Given the description of an element on the screen output the (x, y) to click on. 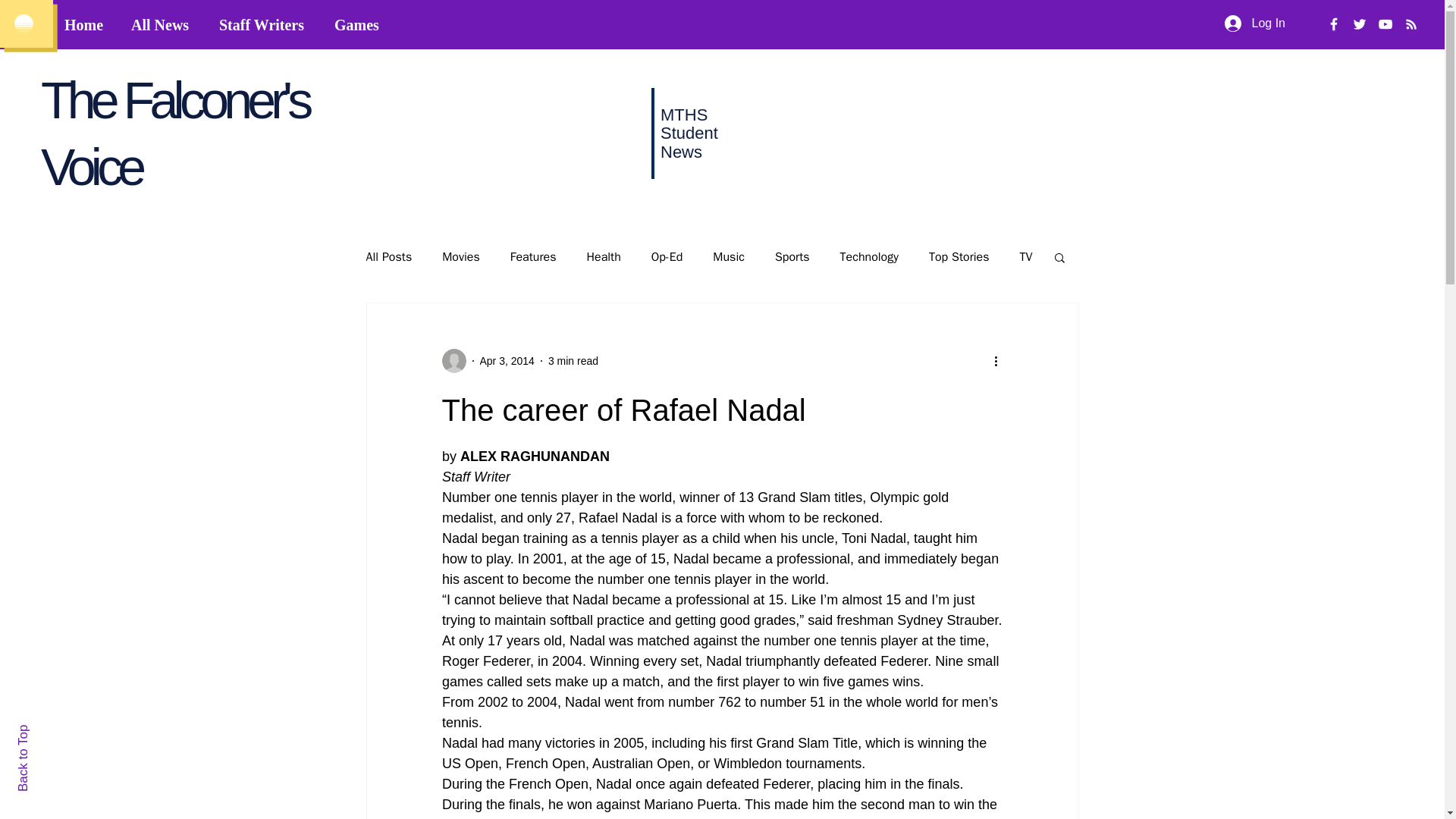
Op-Ed (666, 256)
Features (533, 256)
Apr 3, 2014 (506, 360)
Movies (461, 256)
Staff Writers (265, 25)
Games (359, 25)
Top Stories (959, 256)
The Falconer's (173, 99)
Technology (869, 256)
Voice (90, 166)
